Given the description of an element on the screen output the (x, y) to click on. 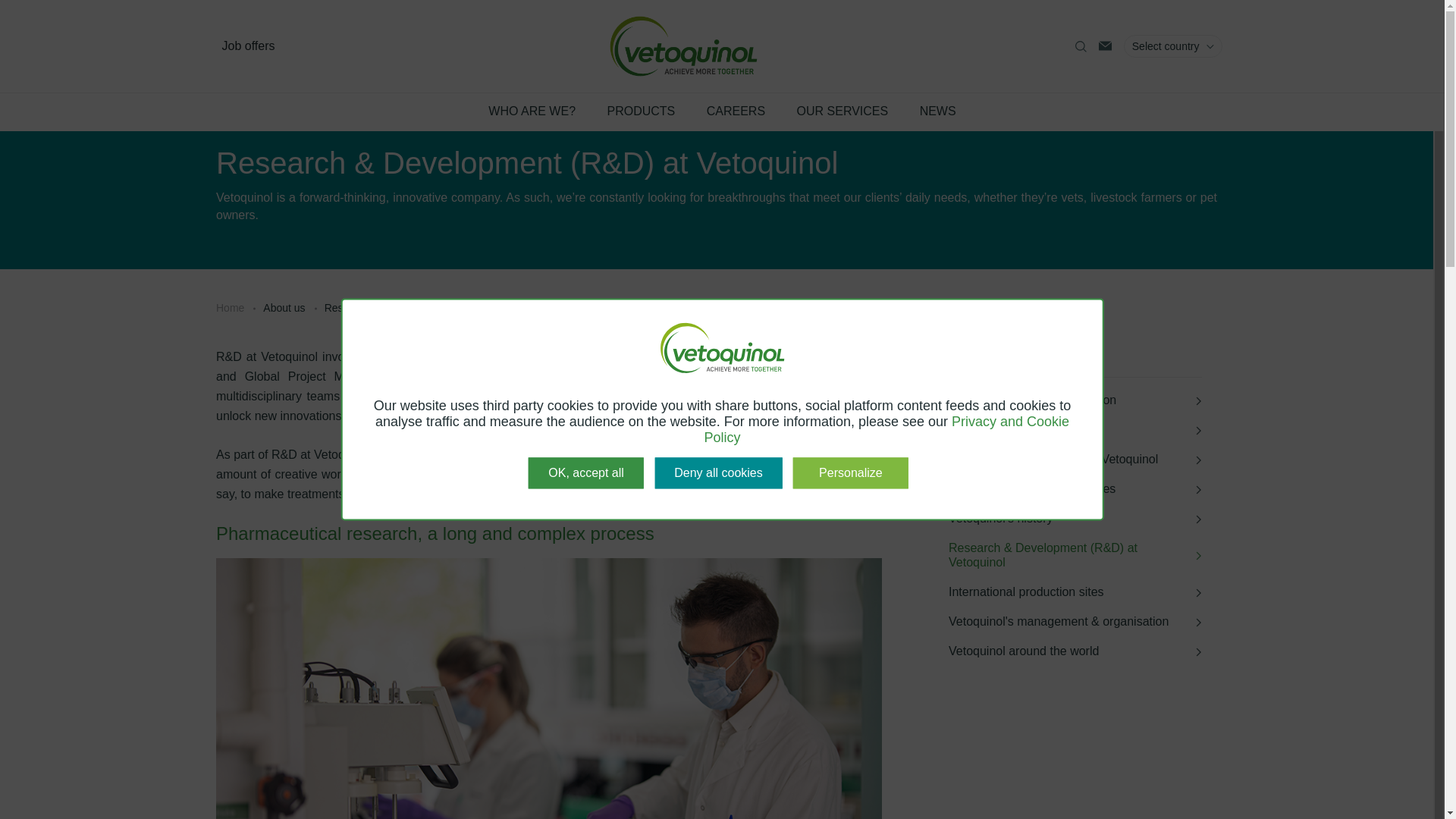
Job offers (248, 45)
Privacy and Cookie Policy (885, 429)
PRODUCTS (641, 110)
